Given the description of an element on the screen output the (x, y) to click on. 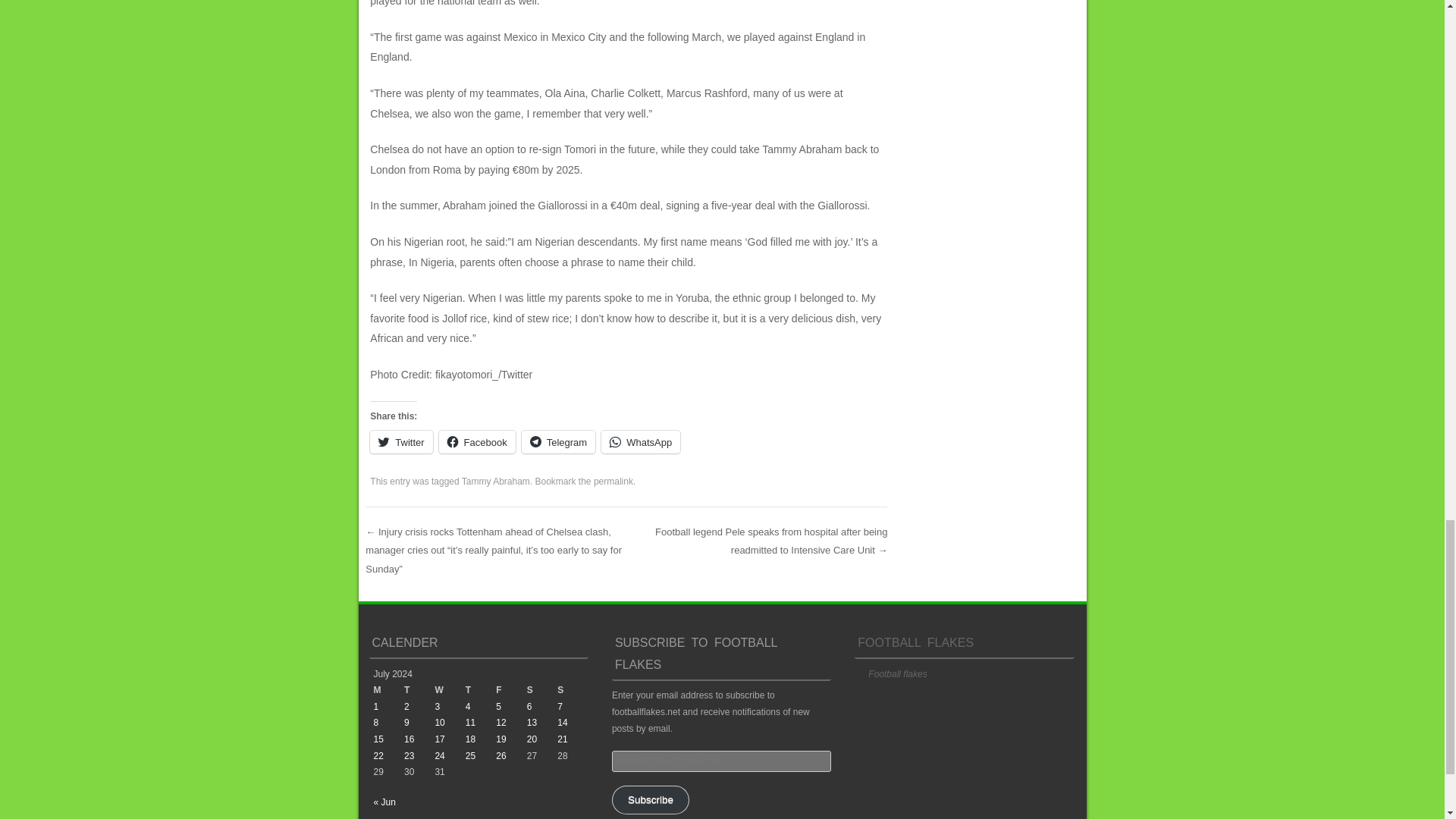
Saturday (542, 690)
Click to share on Facebook (477, 441)
Telegram (558, 441)
Thursday (480, 690)
Twitter (400, 441)
Wednesday (448, 690)
WhatsApp (640, 441)
Click to share on Twitter (400, 441)
Tammy Abraham (495, 480)
permalink (613, 480)
Sunday (572, 690)
Monday (387, 690)
Facebook (477, 441)
Friday (510, 690)
Click to share on WhatsApp (640, 441)
